Given the description of an element on the screen output the (x, y) to click on. 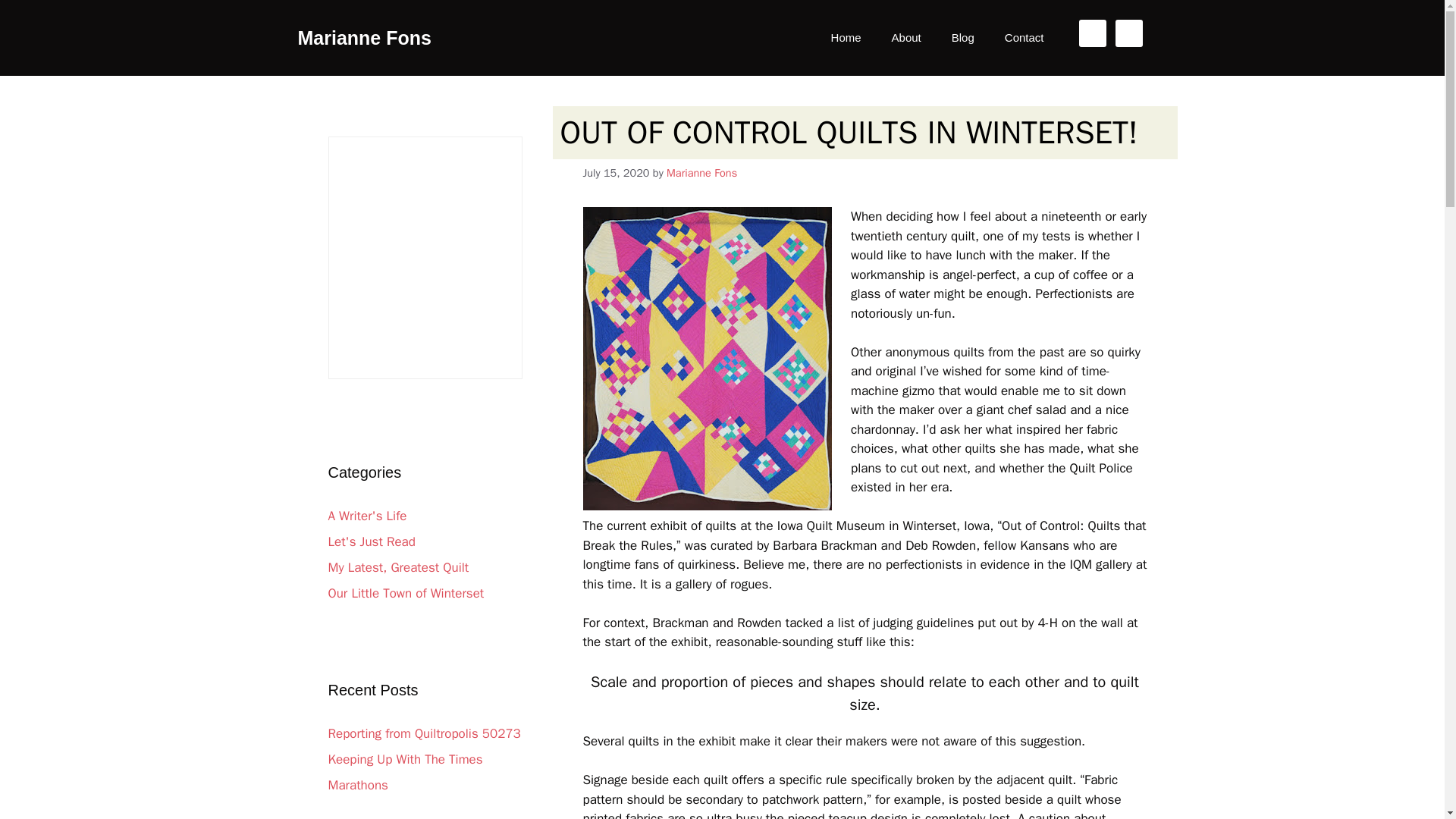
A Writer's Life (366, 515)
Marianne Fons (701, 172)
Let's Just Read (370, 541)
About (906, 37)
Keeping Up With The Times (404, 759)
Marathons (357, 785)
Home (845, 37)
Reporting from Quiltropolis 50273 (423, 733)
My Latest, Greatest Quilt (397, 567)
Marianne Fons (363, 37)
